Given the description of an element on the screen output the (x, y) to click on. 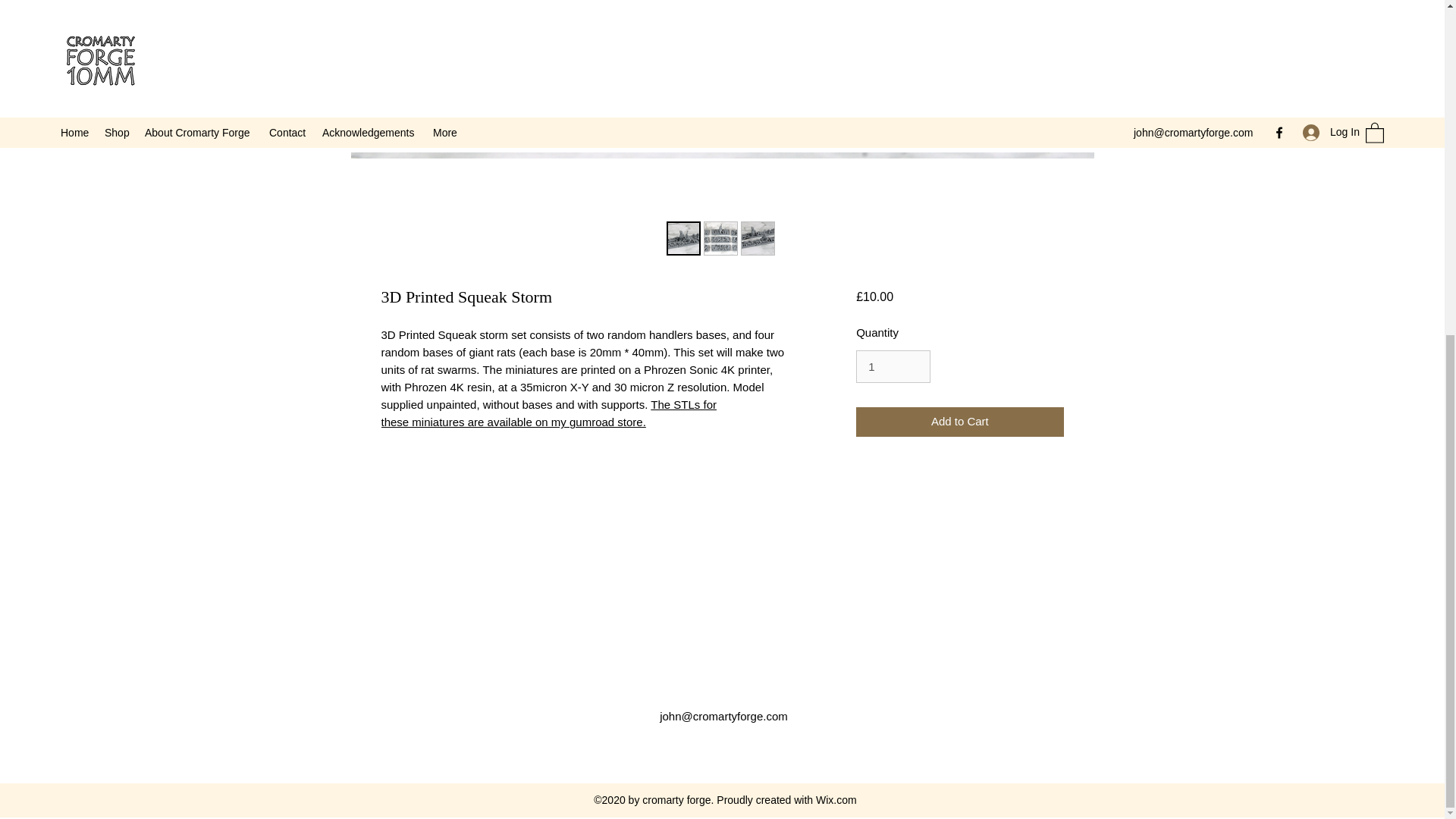
1 (893, 367)
Add to Cart (959, 421)
